Given the description of an element on the screen output the (x, y) to click on. 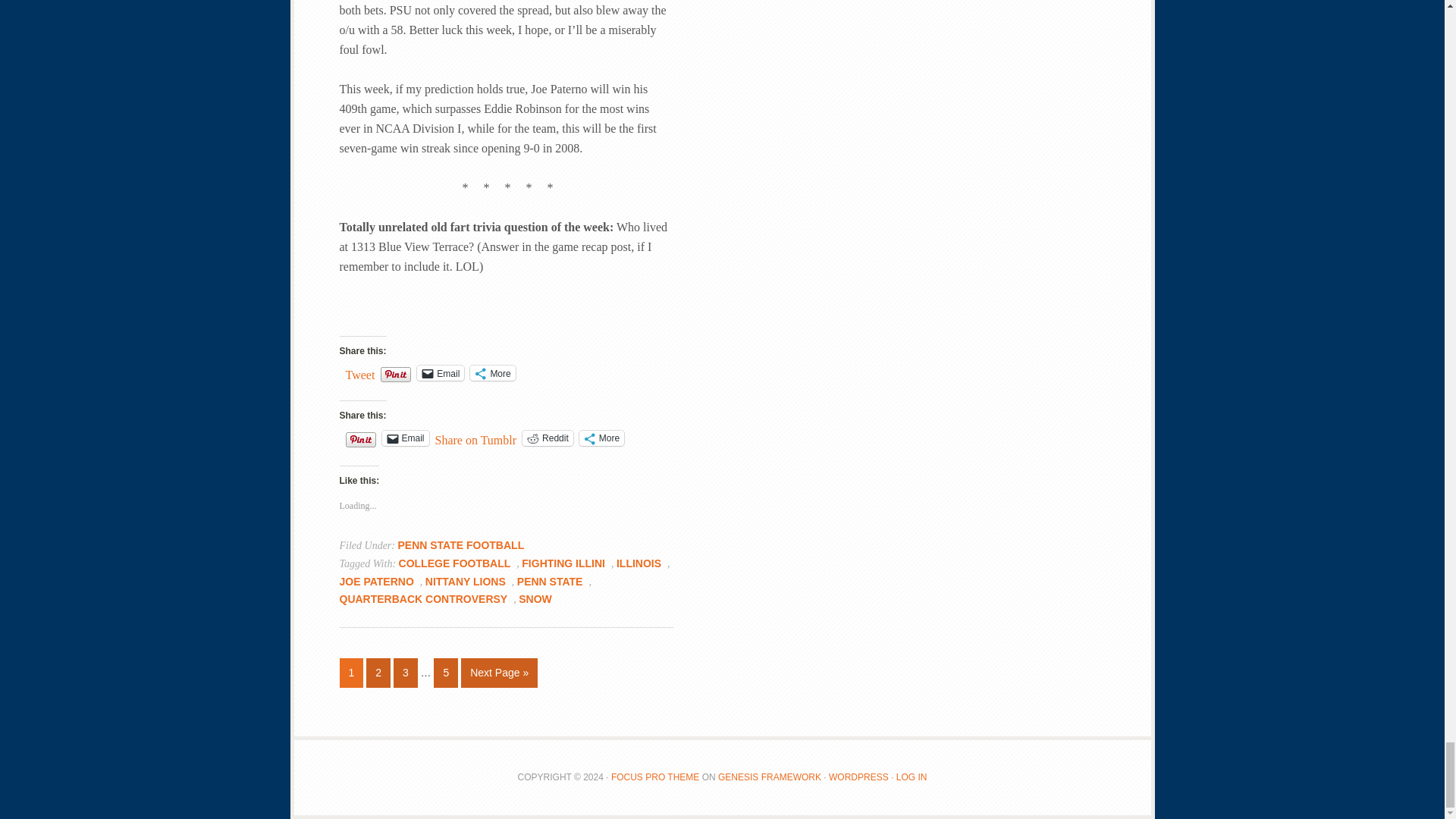
Click to email a link to a friend (405, 437)
Click to share on Reddit (547, 437)
Share on Tumblr (475, 437)
Click to email a link to a friend (440, 372)
